Given the description of an element on the screen output the (x, y) to click on. 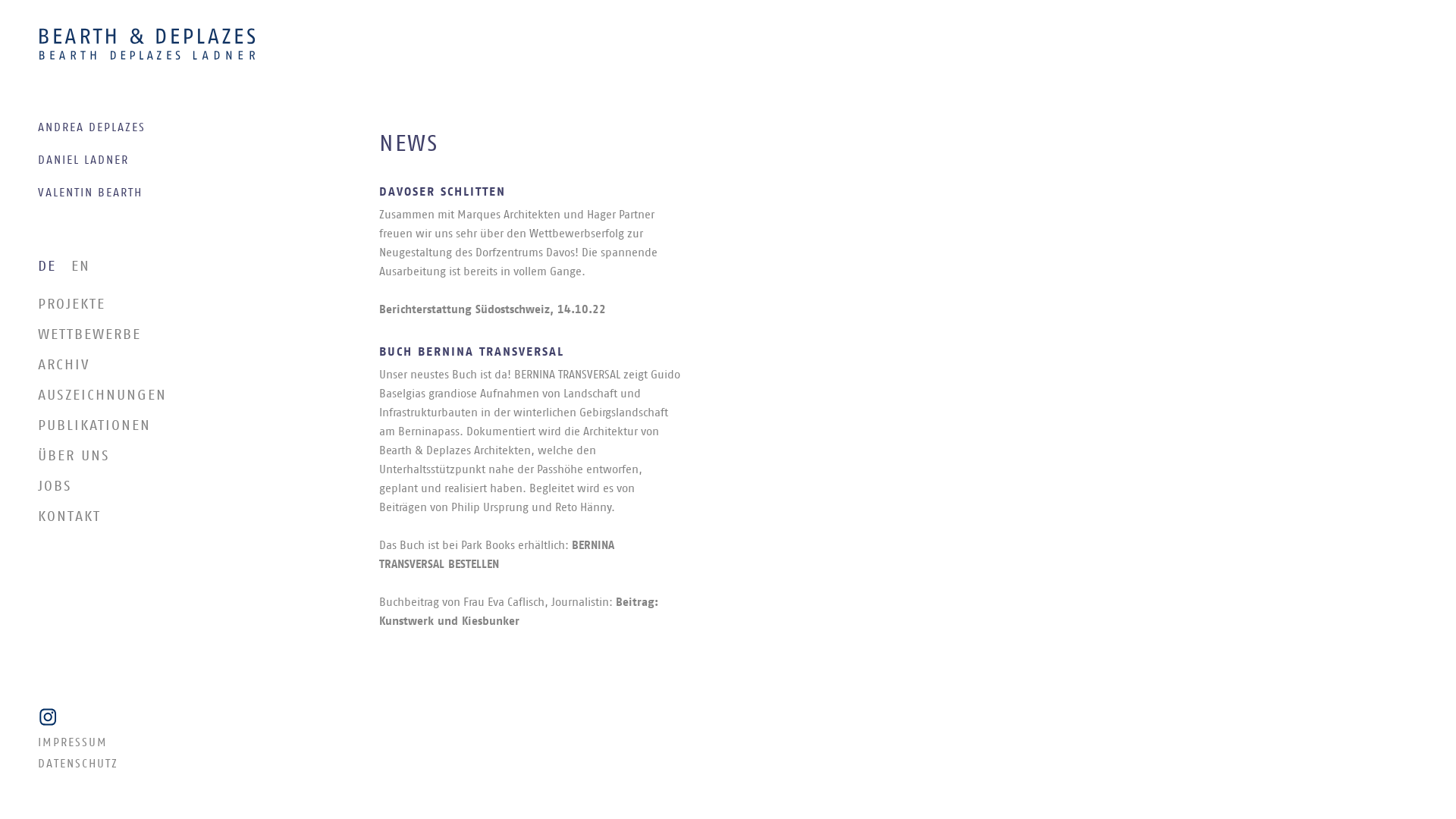
Beitrag: Kunstwerk und Kiesbunker Element type: text (518, 611)
  Element type: text (170, 716)
AUSZEICHNUNGEN Element type: text (162, 394)
KONTAKT Element type: text (162, 516)
WETTBEWERBE Element type: text (162, 334)
DE Element type: text (46, 266)
ANDREA DEPLAZES Element type: text (170, 127)
PROJEKTE Element type: text (162, 303)
DANIEL LADNER Element type: text (170, 160)
IMPRESSUM Element type: text (170, 742)
PUBLIKATIONEN Element type: text (162, 425)
VALENTIN BEARTH Element type: text (170, 192)
EN Element type: text (80, 266)
JOBS Element type: text (162, 485)
BEARTH & DEPLAZES Element type: text (146, 43)
BERNINA TRANSVERSAL BESTELLEN Element type: text (496, 554)
DATENSCHUTZ Element type: text (170, 764)
ARCHIV Element type: text (162, 364)
